Given the description of an element on the screen output the (x, y) to click on. 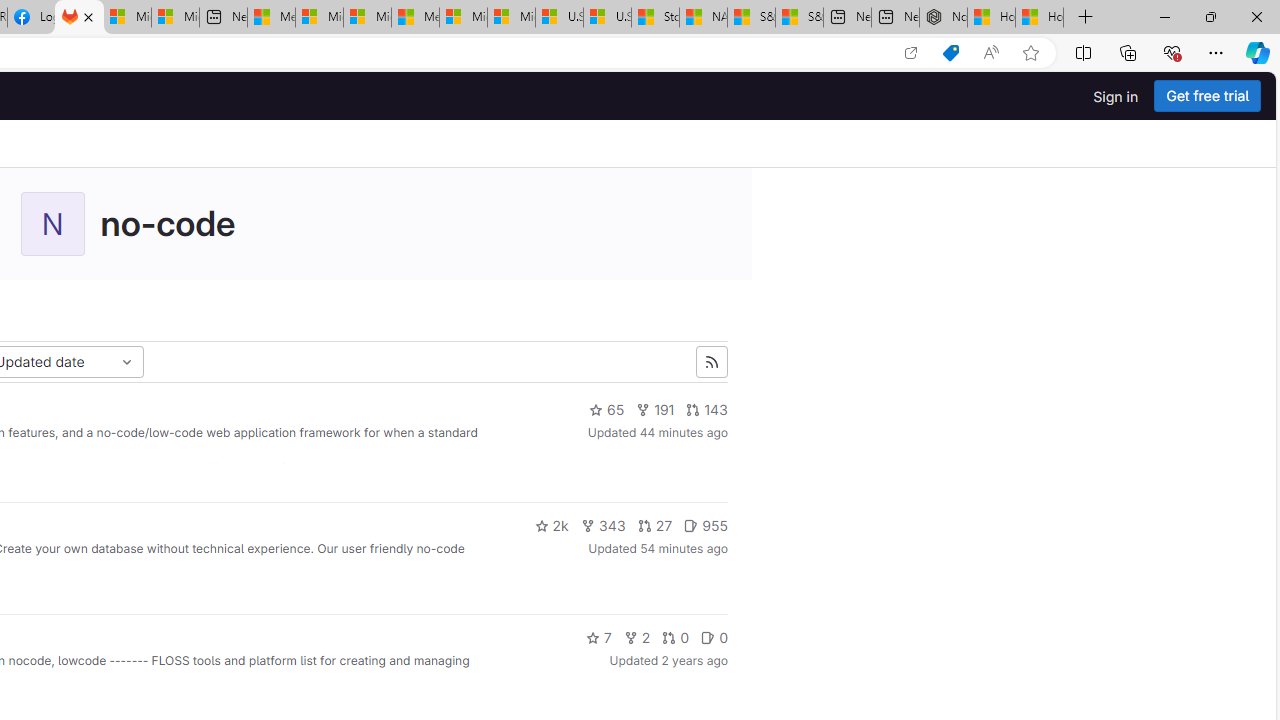
Class: s16 gl-icon gl-button-icon  (711, 362)
65 (605, 409)
Sign in (1115, 95)
143 (707, 409)
Shopping in Microsoft Edge (950, 53)
Class: s16 dropdown-menu-toggle-icon (126, 362)
